Given the description of an element on the screen output the (x, y) to click on. 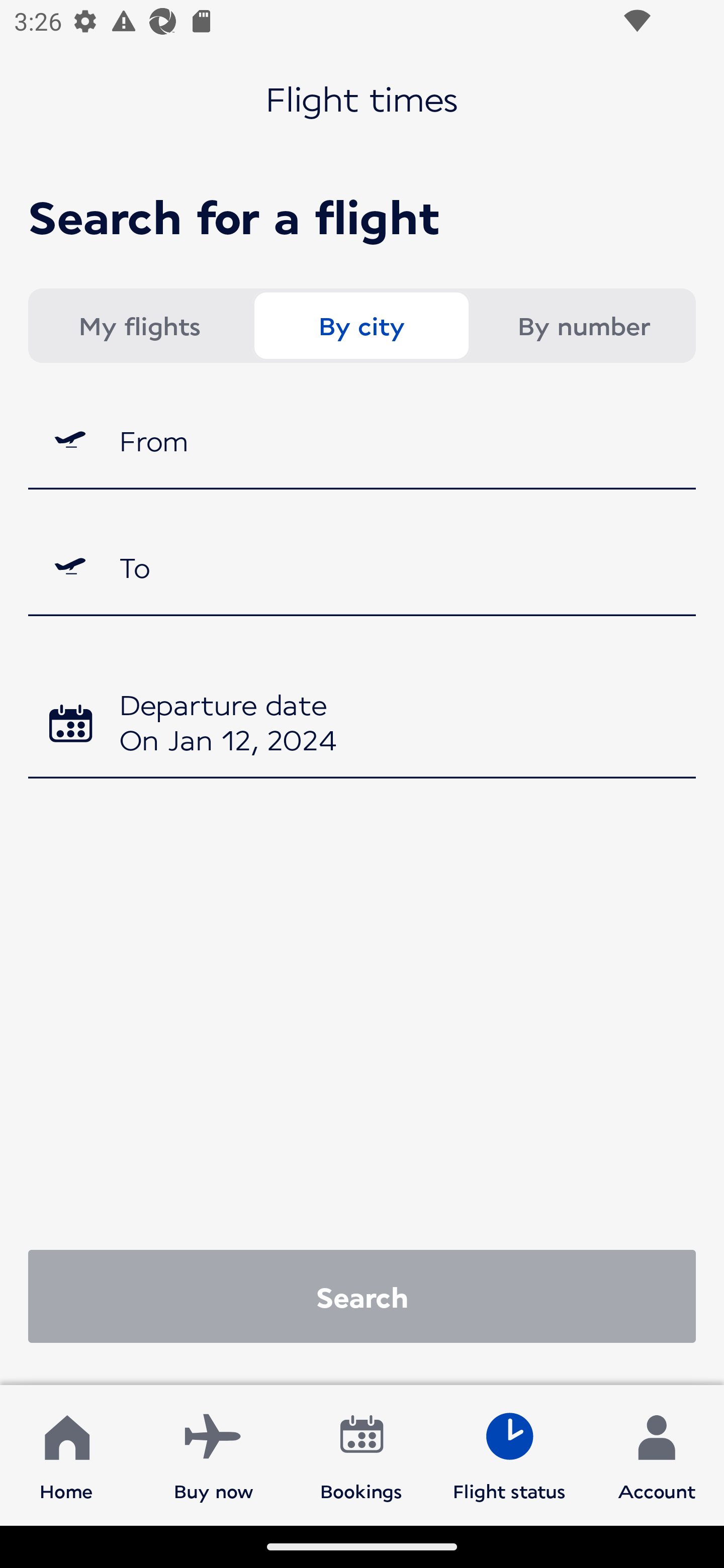
My flights (139, 325)
By city (361, 325)
By number (583, 325)
From (361, 439)
To (361, 566)
On Jan 12, 2024 Departure date (361, 724)
Search (361, 1295)
Home (66, 1454)
Buy now (213, 1454)
Bookings (361, 1454)
Account (657, 1454)
